Given the description of an element on the screen output the (x, y) to click on. 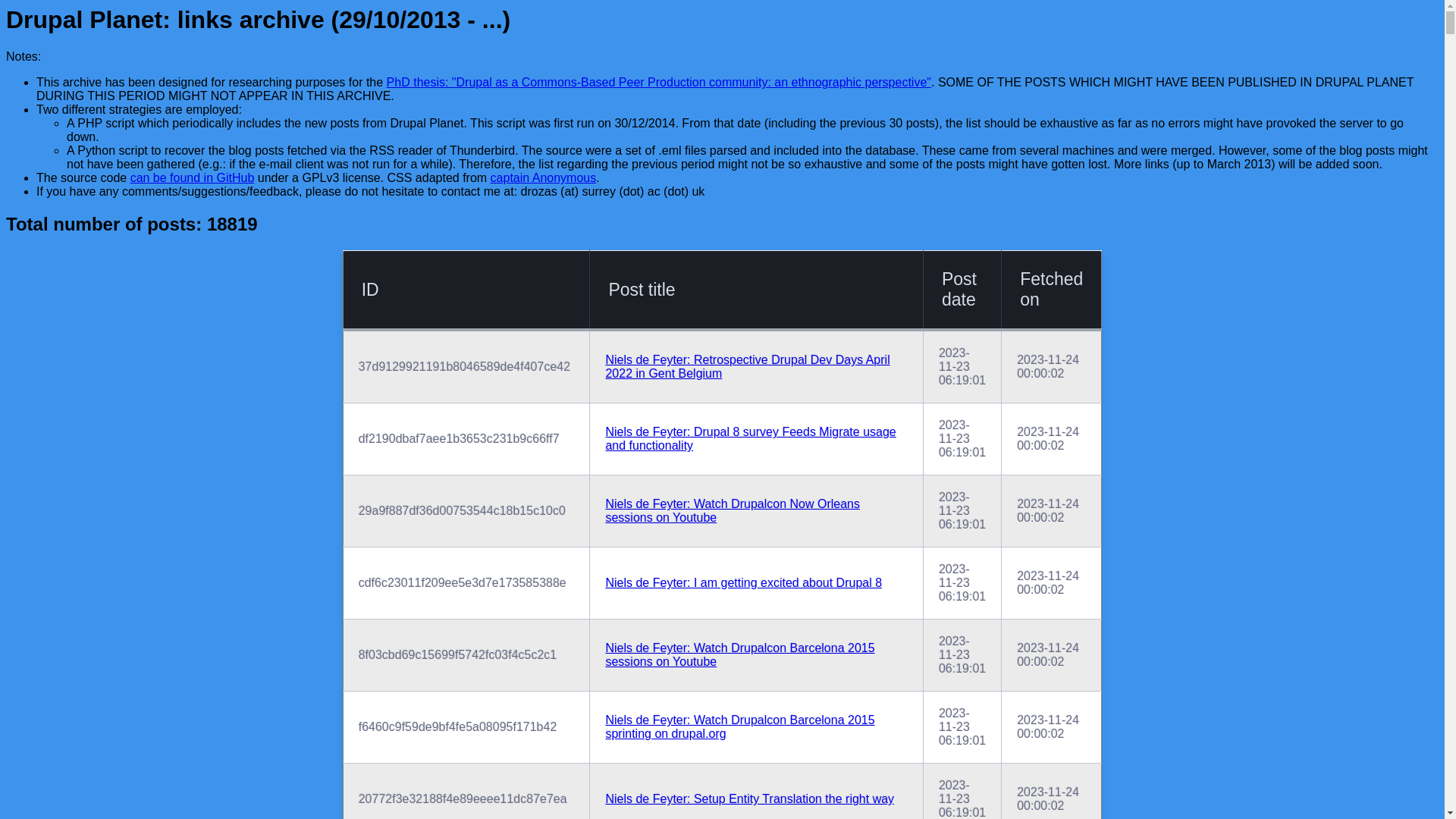
can be found in GitHub Element type: text (192, 177)
Niels de Feyter: I am getting excited about Drupal 8 Element type: text (743, 582)
captain Anonymous Element type: text (543, 177)
Niels de Feyter: Setup Entity Translation the right way Element type: text (749, 798)
